Given the description of an element on the screen output the (x, y) to click on. 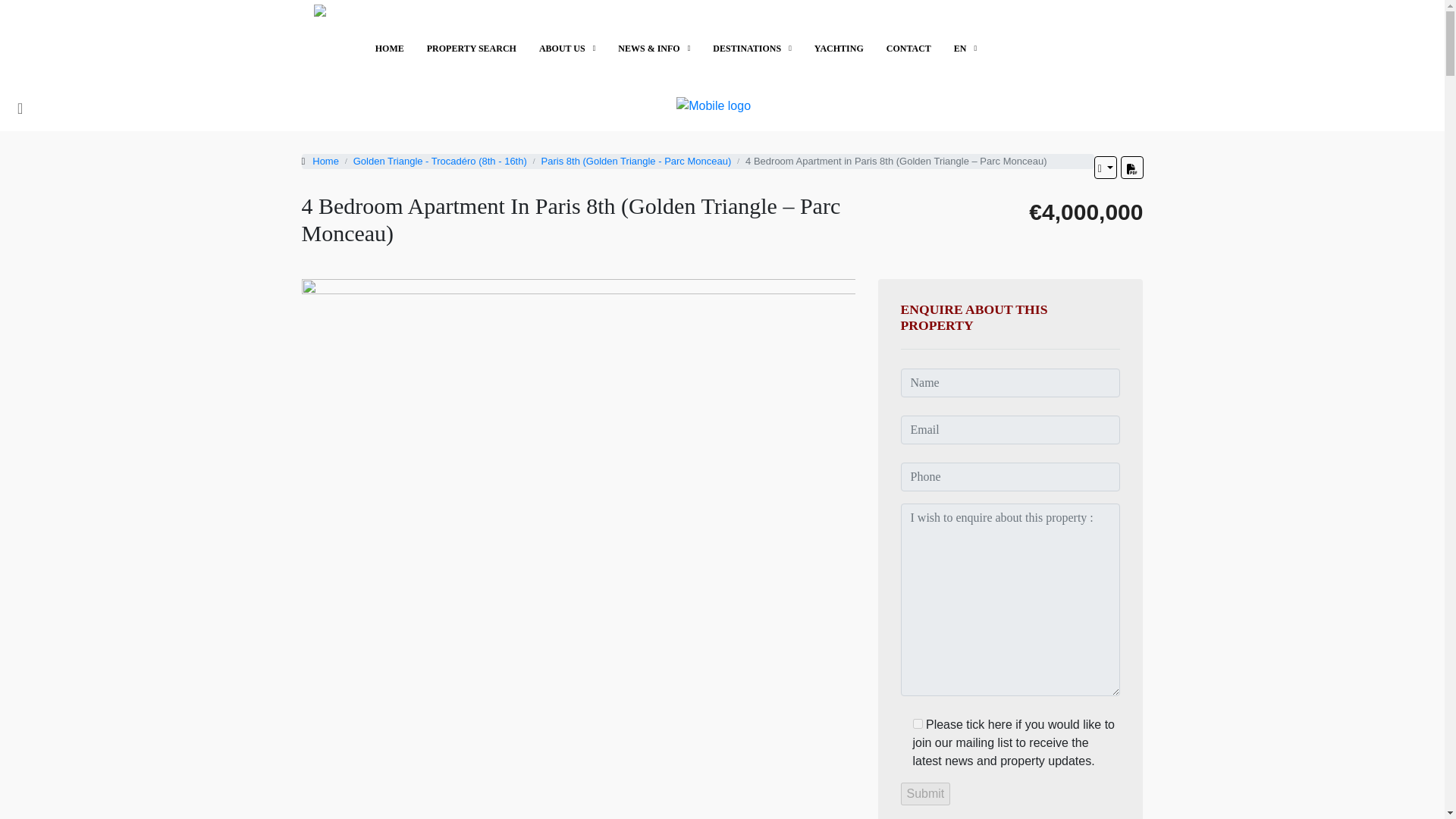
Submit (925, 793)
